Given the description of an element on the screen output the (x, y) to click on. 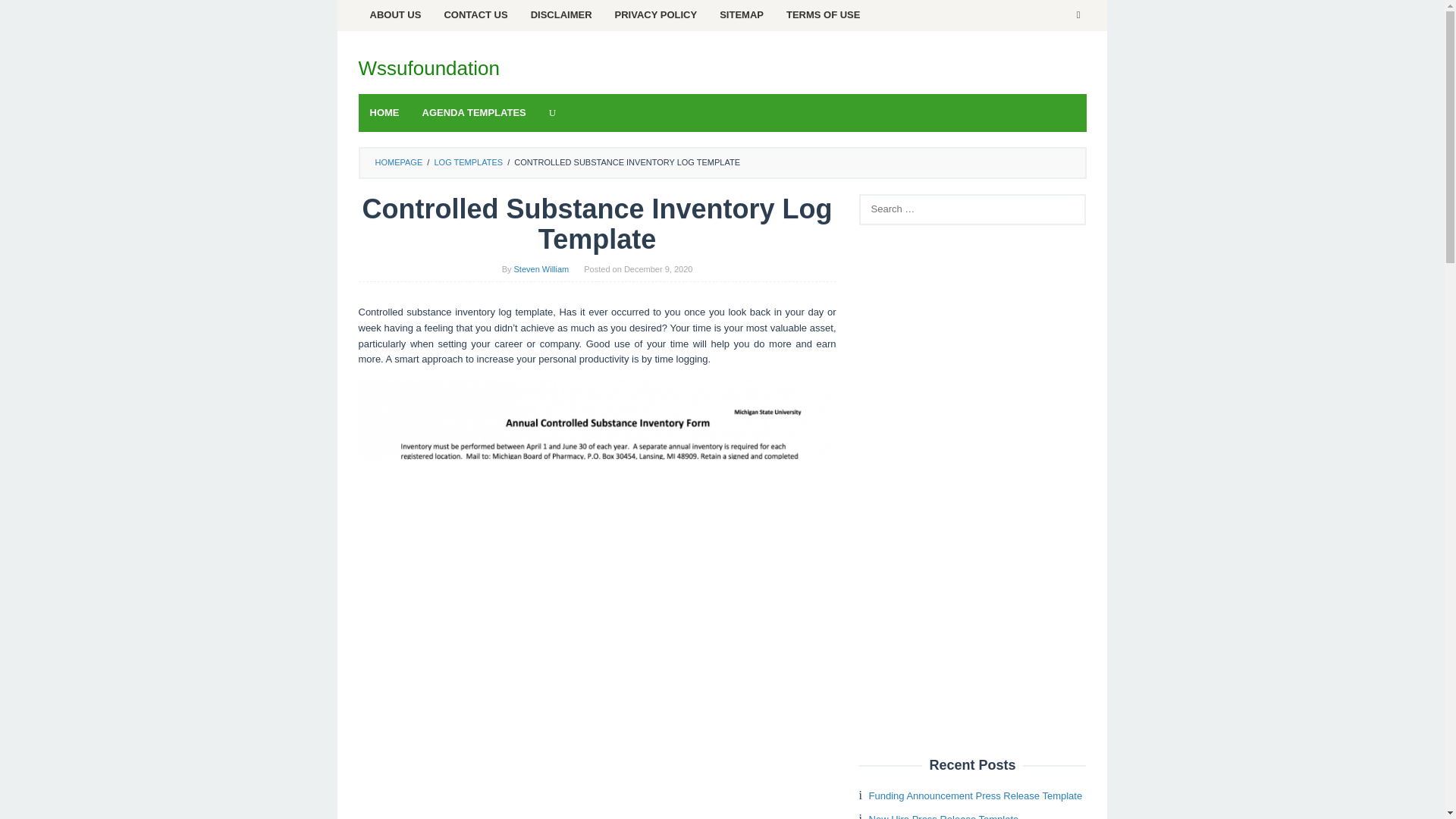
Steven William (541, 268)
SITEMAP (740, 15)
LOG TEMPLATES (467, 162)
AGENDA TEMPLATES (473, 112)
TERMS OF USE (823, 15)
Wssufoundation (428, 67)
DISCLAIMER (561, 15)
PRIVACY POLICY (656, 15)
Permalink to: Steven William (541, 268)
HOME (384, 112)
Search (27, 15)
CONTACT US (475, 15)
HOMEPAGE (398, 162)
Wssufoundation (428, 67)
ABOUT US (395, 15)
